Given the description of an element on the screen output the (x, y) to click on. 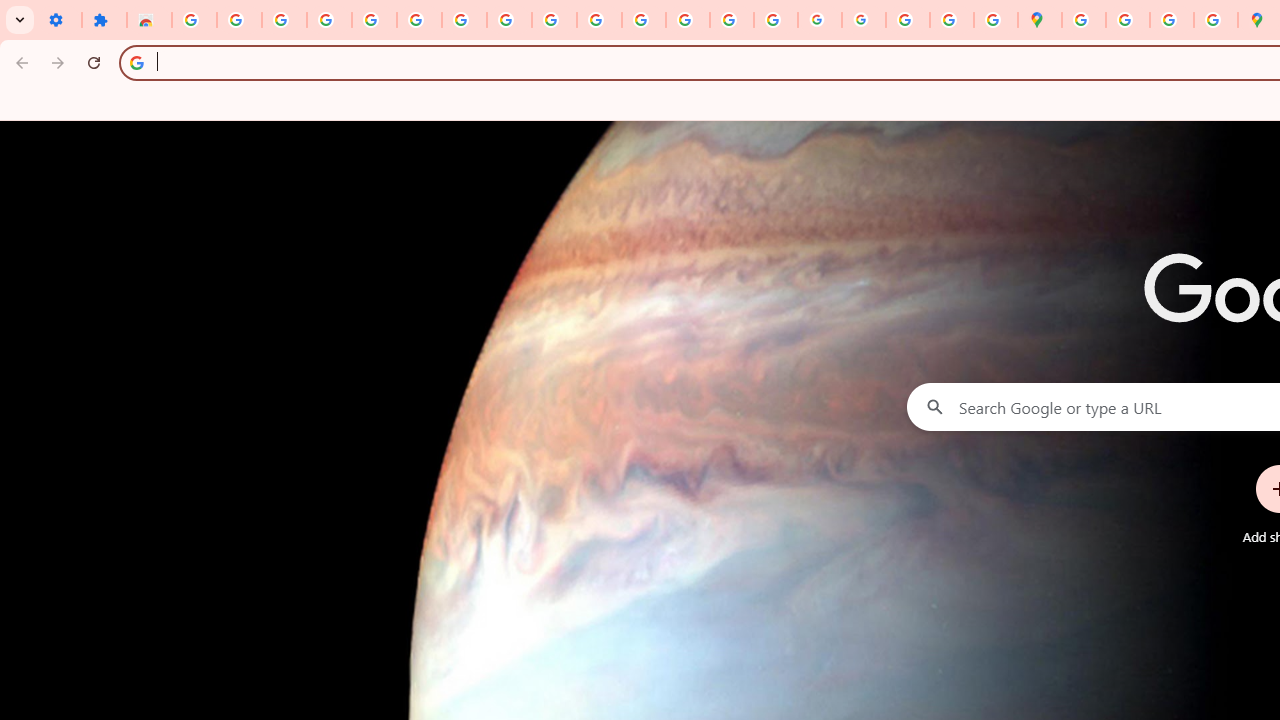
Reviews: Helix Fruit Jump Arcade Game (148, 20)
Settings - On startup (59, 20)
